Given the description of an element on the screen output the (x, y) to click on. 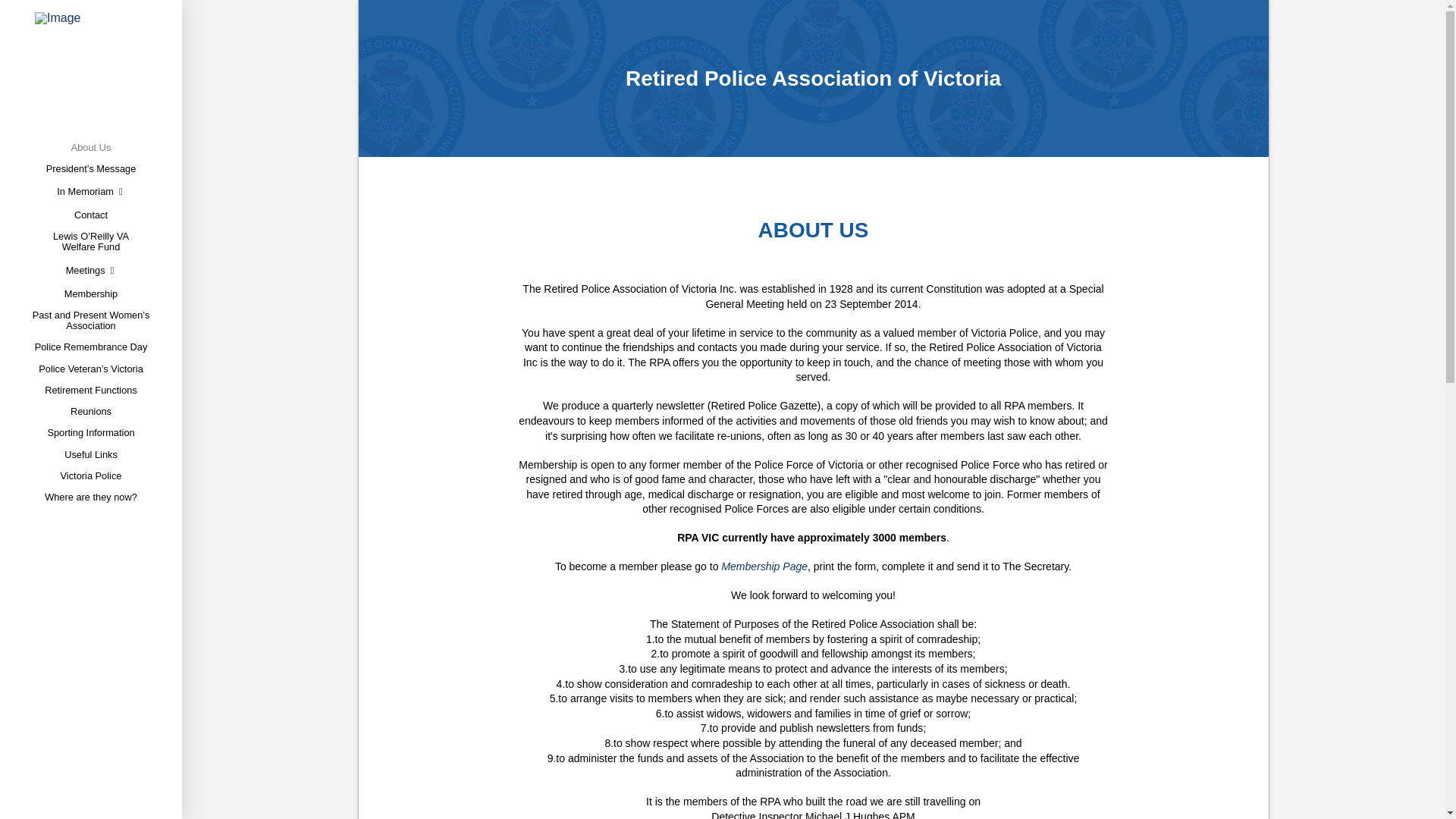
Sporting Information (90, 430)
Retirement Functions (91, 387)
About Us (90, 144)
In Memoriam (90, 189)
Membership (90, 291)
Meetings (90, 267)
Police Remembrance Day (90, 344)
Contact (90, 212)
Reunions (90, 409)
